Given the description of an element on the screen output the (x, y) to click on. 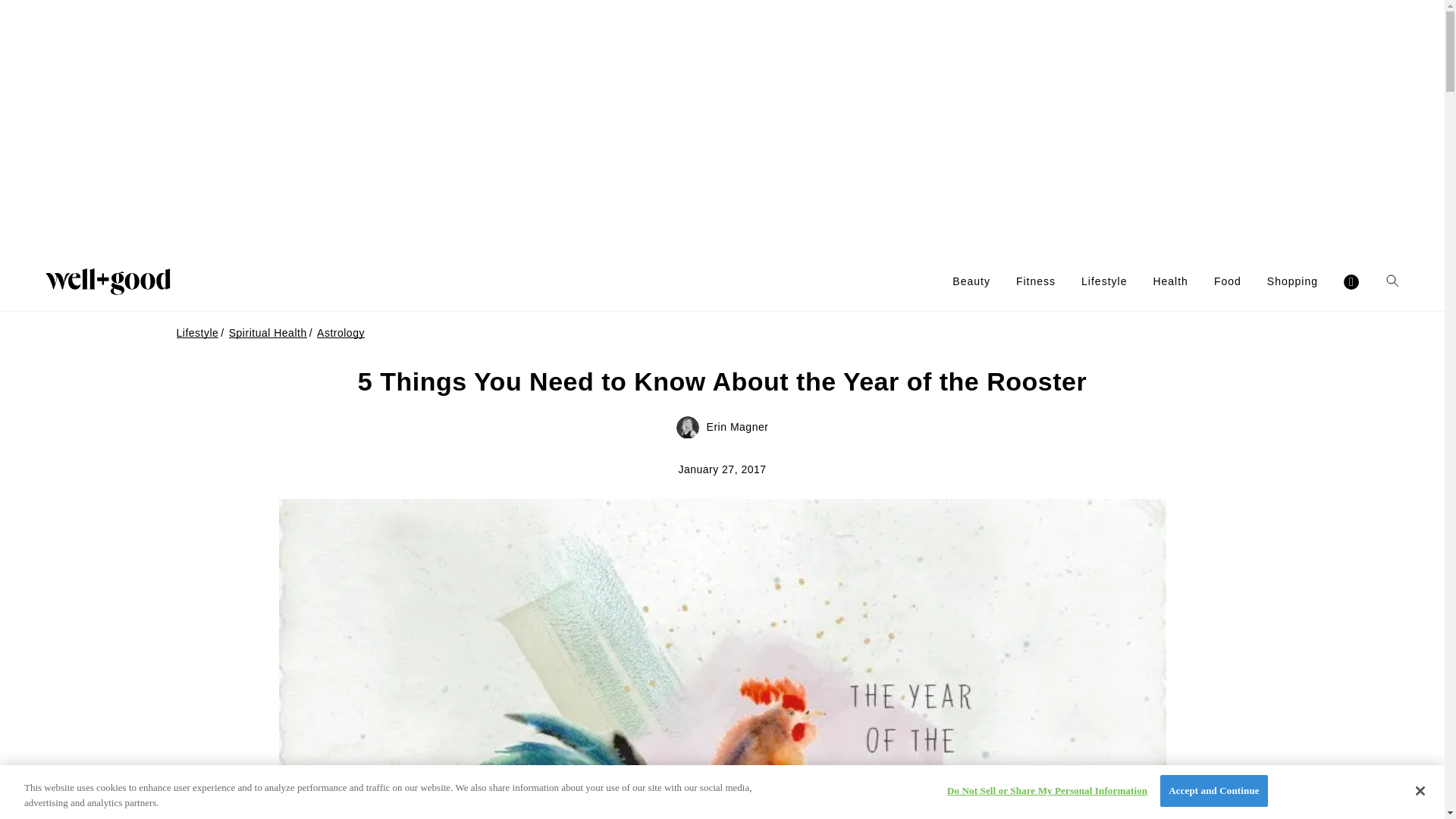
Shopping (1291, 281)
Fitness (1035, 281)
Health (1170, 281)
Food (1227, 281)
Lifestyle (1103, 281)
Beauty (971, 281)
